Given the description of an element on the screen output the (x, y) to click on. 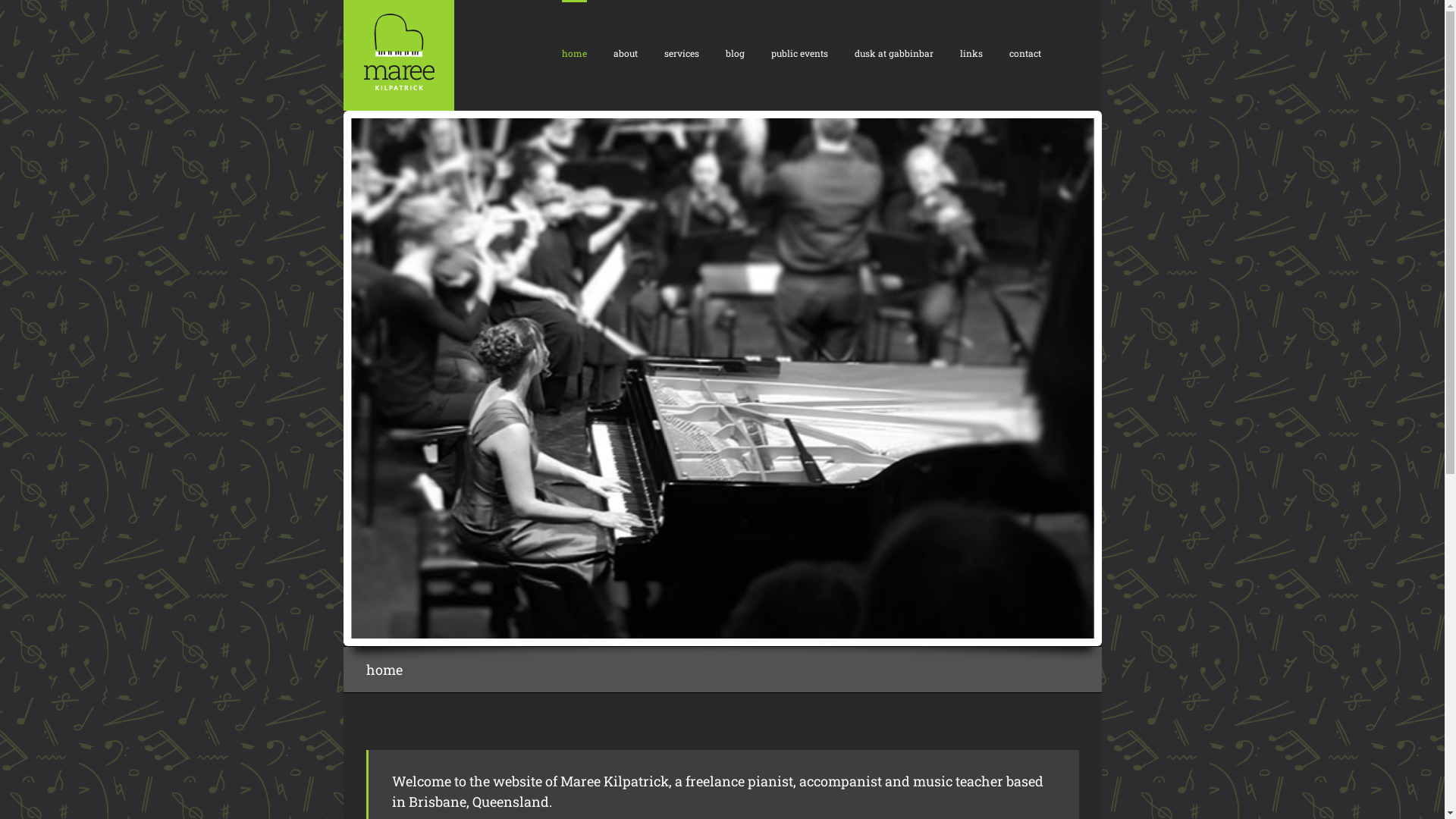
services Element type: text (681, 52)
dusk at gabbinbar Element type: text (892, 52)
links Element type: text (971, 52)
blog Element type: text (733, 52)
public events Element type: text (798, 52)
home Element type: text (573, 52)
contact Element type: text (1024, 52)
about Element type: text (624, 52)
